Given the description of an element on the screen output the (x, y) to click on. 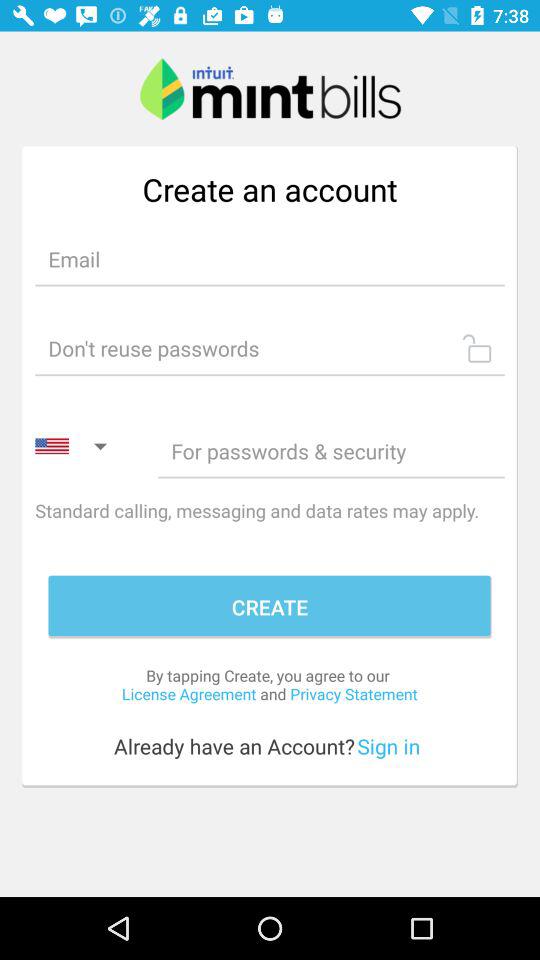
password input section (269, 348)
